Given the description of an element on the screen output the (x, y) to click on. 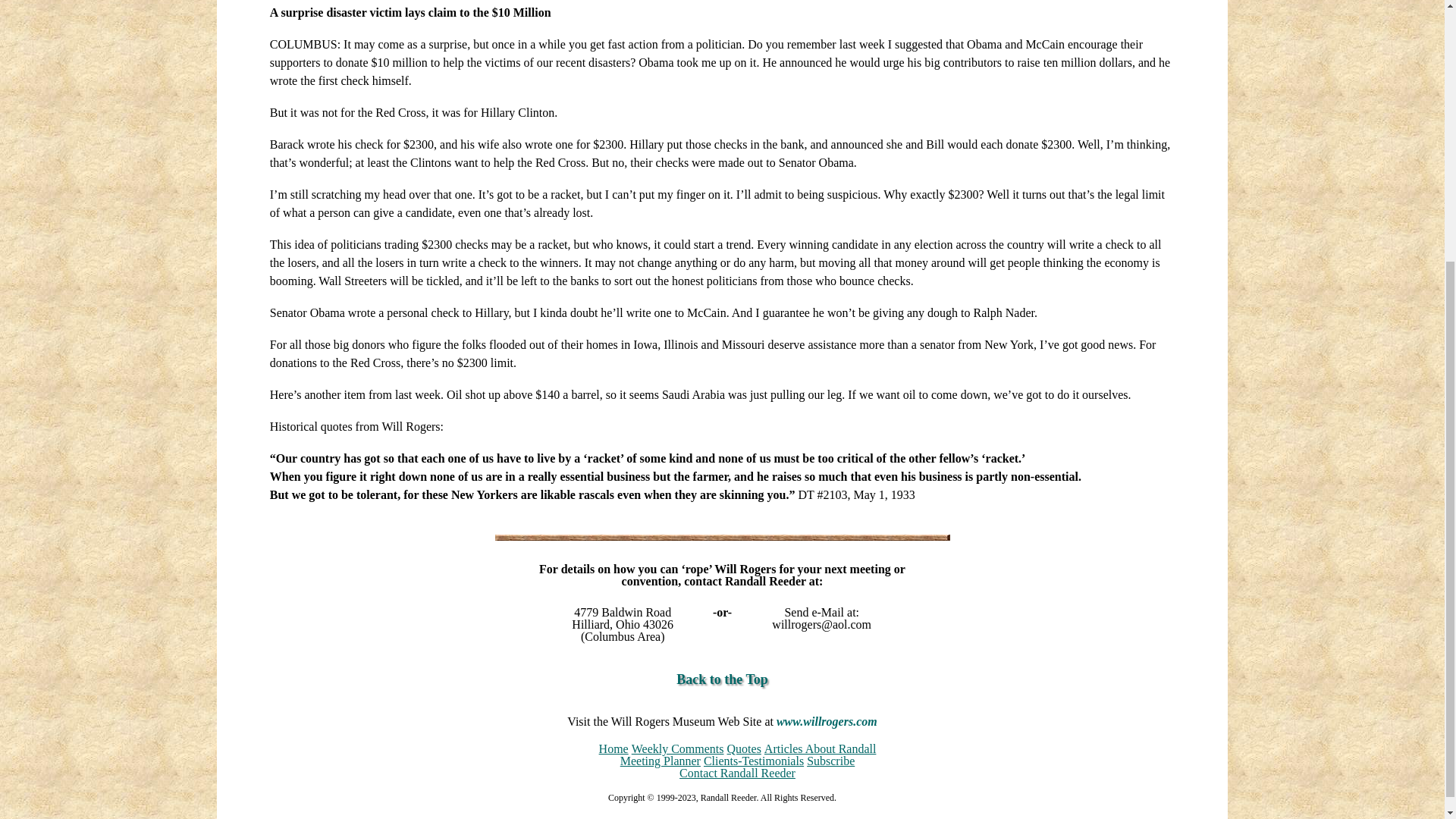
Contact Randall Reeder (736, 772)
Subscribe (830, 760)
Weekly Comments (677, 748)
Back to the Top (722, 679)
Quotes (743, 748)
www.willrogers.com (826, 721)
Articles About Randall (820, 748)
Home (613, 748)
Meeting Planner (660, 760)
Clients-Testimonials (753, 760)
